Given the description of an element on the screen output the (x, y) to click on. 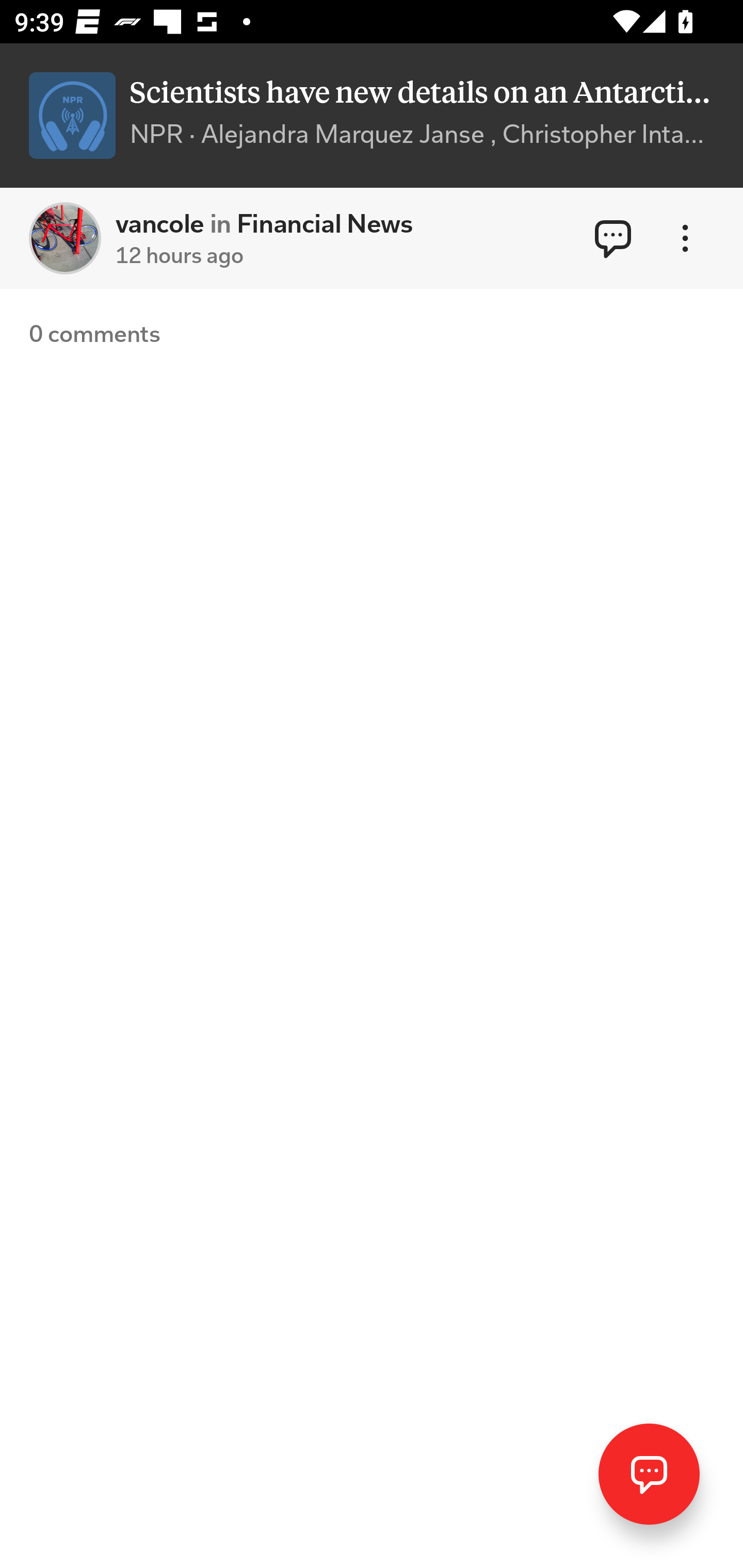
vancole (64, 238)
